Given the description of an element on the screen output the (x, y) to click on. 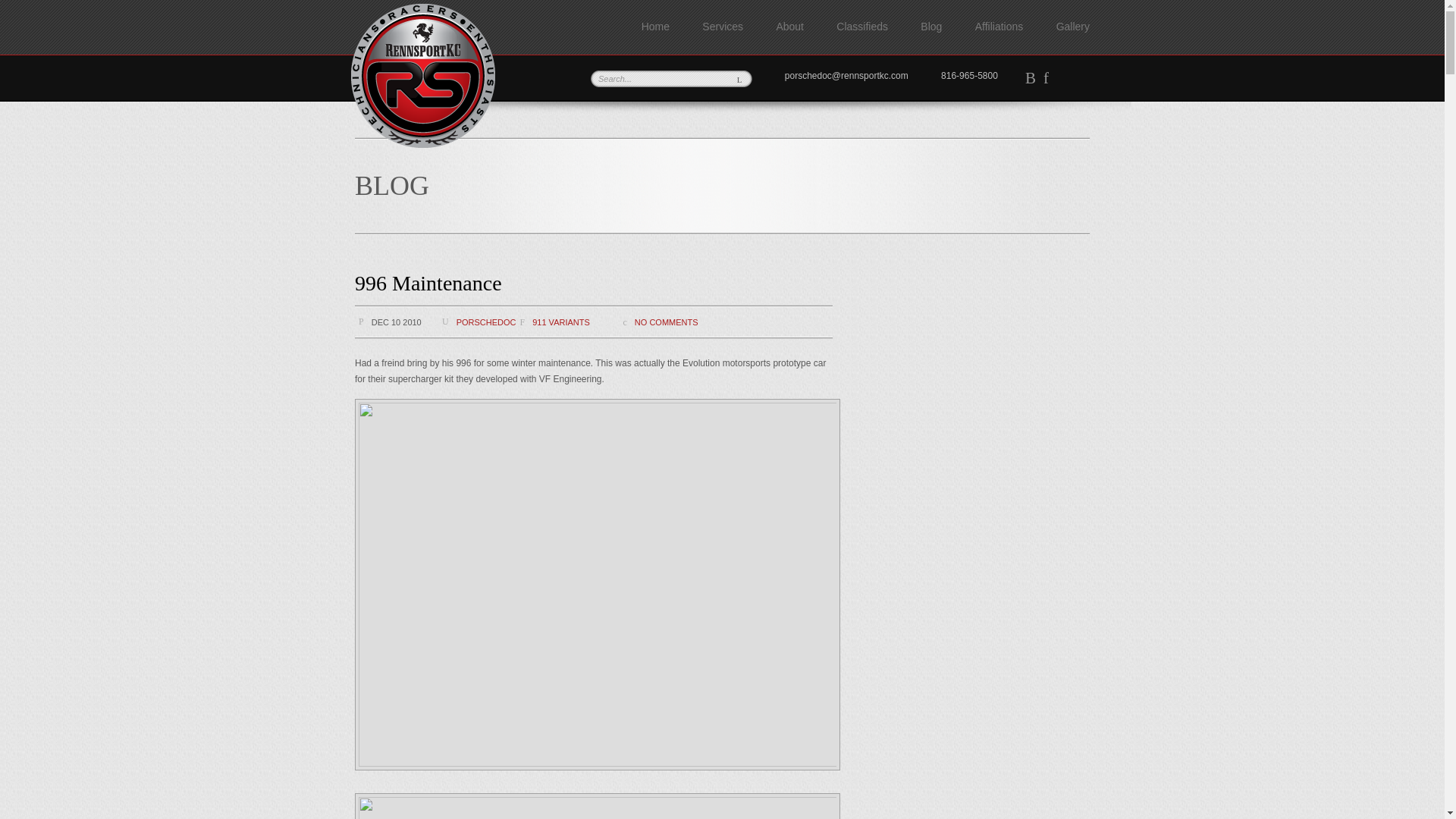
Blog (931, 26)
Classifieds (861, 26)
L (739, 78)
About (789, 26)
PORSCHEDOC (486, 321)
Services (721, 26)
L (739, 78)
NO COMMENTS (666, 321)
Home (655, 26)
Affiliations (999, 26)
